Given the description of an element on the screen output the (x, y) to click on. 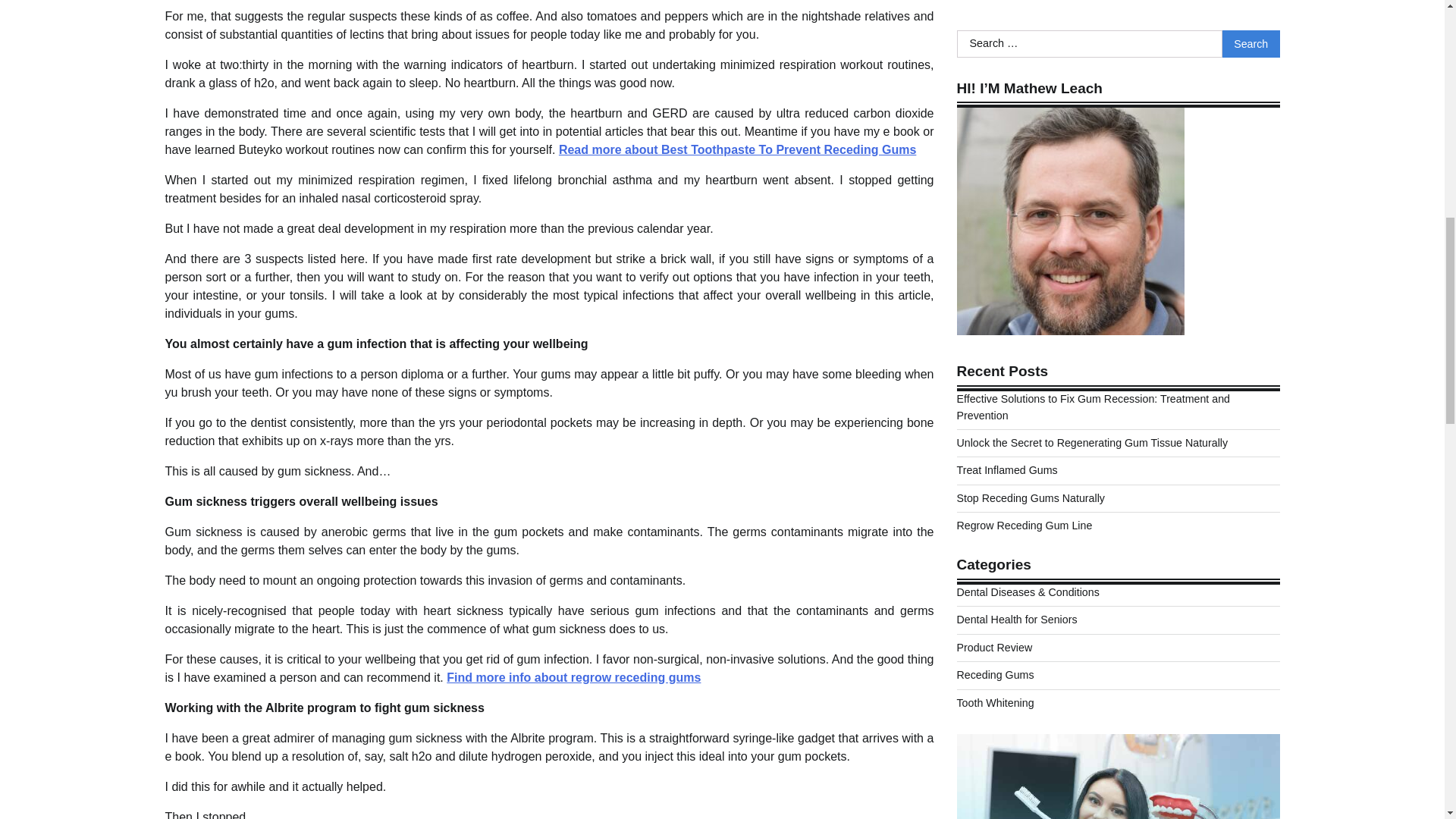
Find more info about regrow receding gums (573, 676)
Read more about Best Toothpaste To Prevent Receding Gums (737, 149)
